Given the description of an element on the screen output the (x, y) to click on. 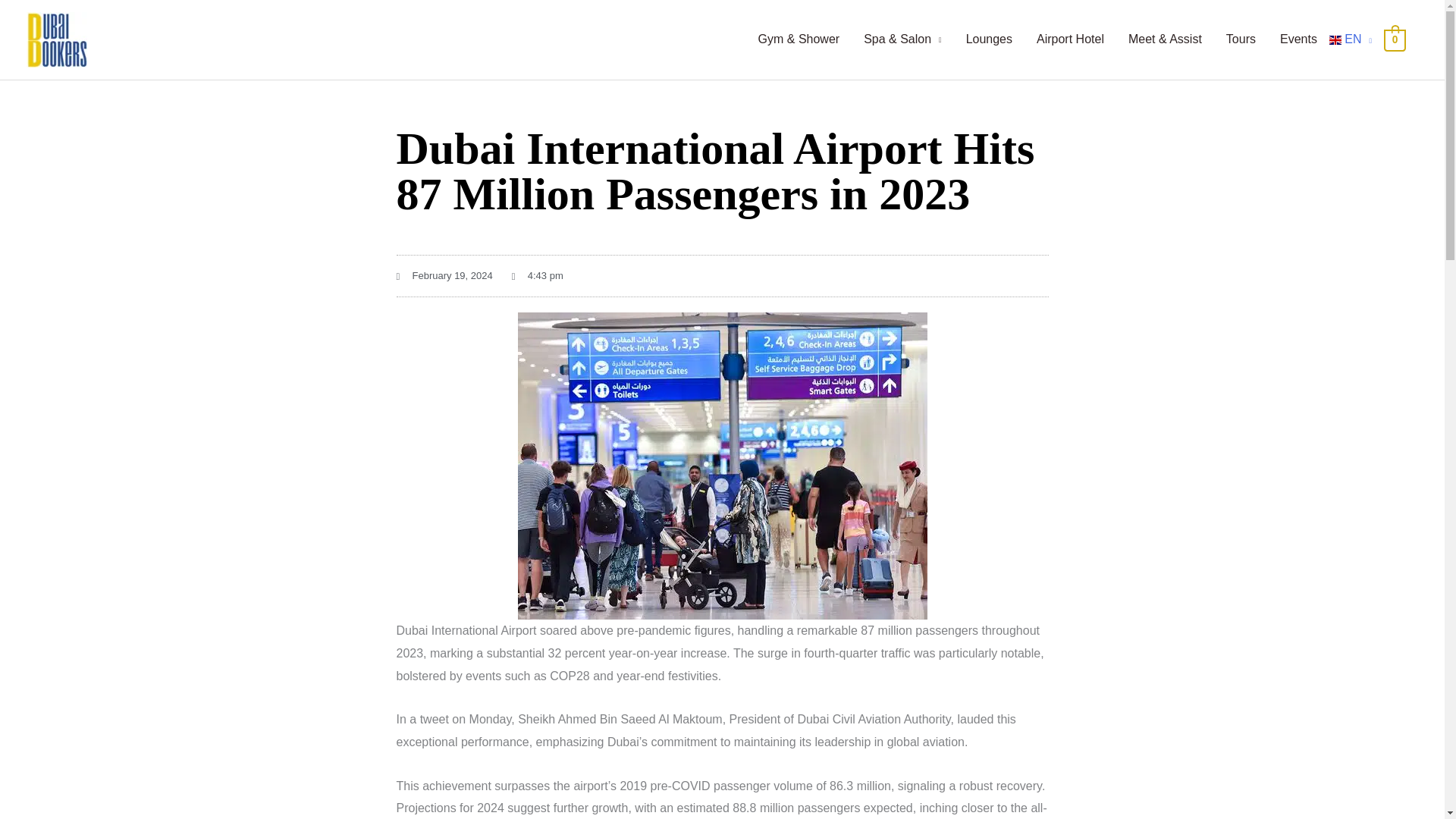
Tours (1241, 39)
Lounges (989, 39)
0 (1395, 39)
Airport Hotel (1070, 39)
February 19, 2024 (444, 275)
Events (1298, 39)
